Given the description of an element on the screen output the (x, y) to click on. 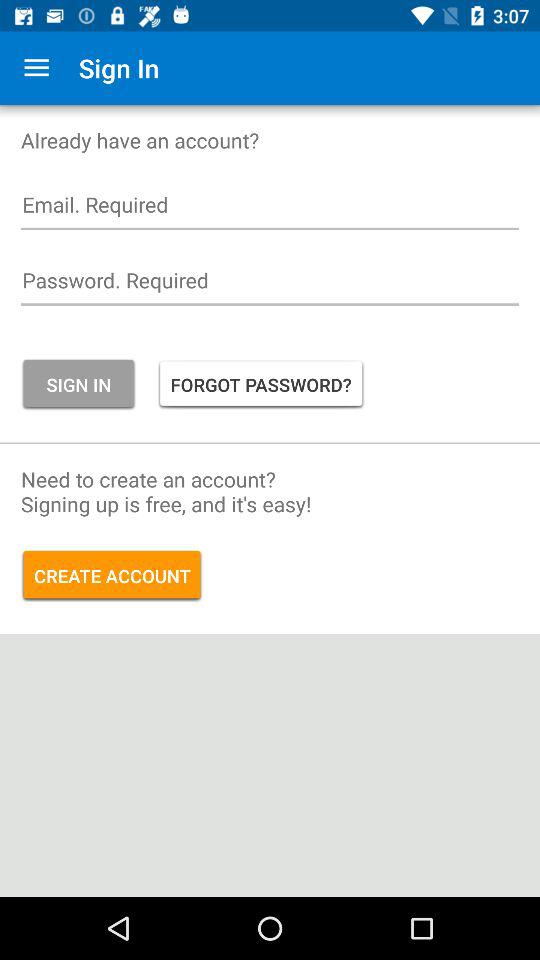
launch the item next to sign in item (260, 384)
